Given the description of an element on the screen output the (x, y) to click on. 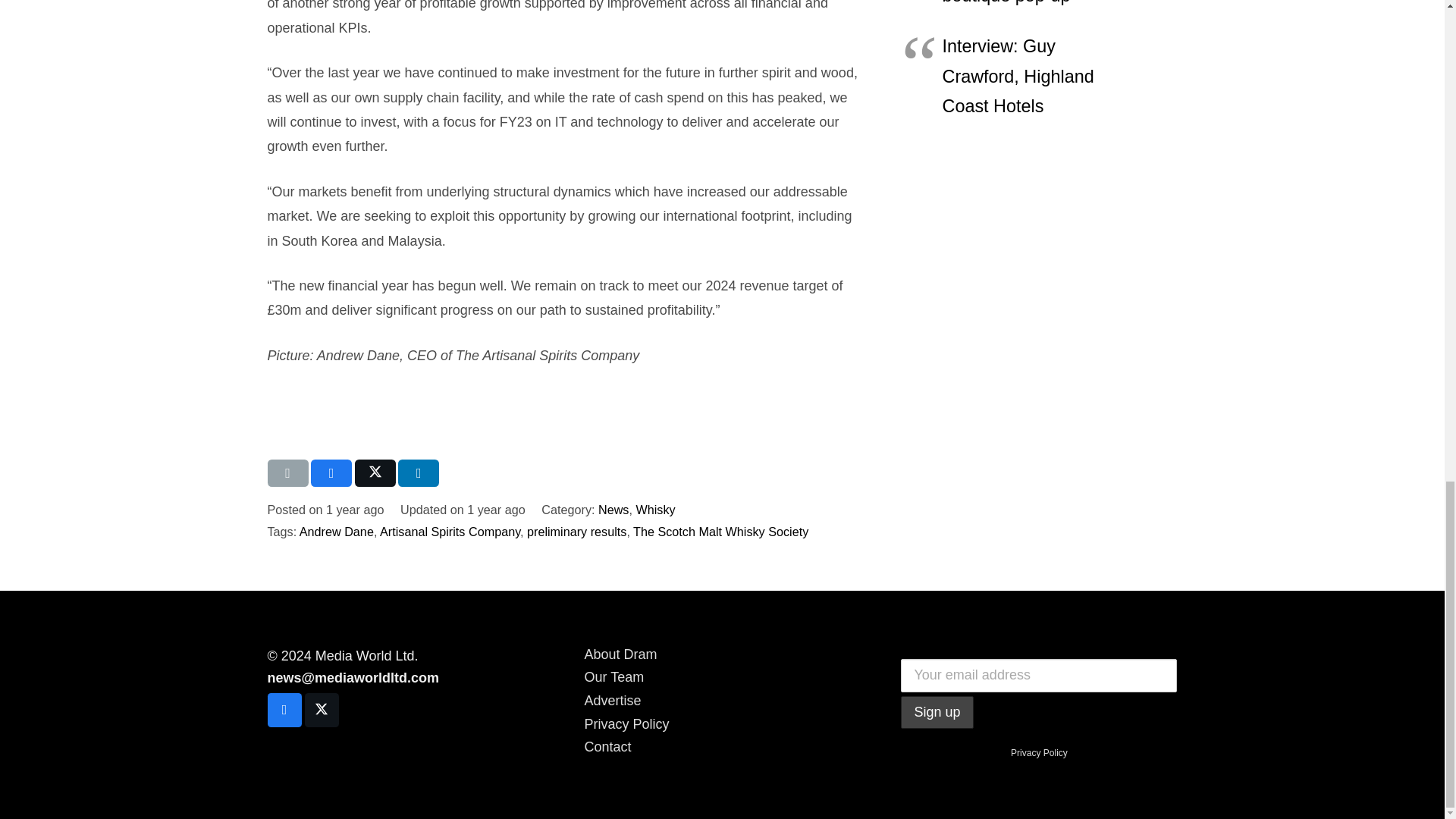
News (613, 509)
preliminary results (576, 531)
Whisky (654, 509)
The Scotch Malt Whisky Society (720, 531)
Share this (331, 472)
Andrew Dane (336, 531)
Twitter (321, 709)
Share this (418, 472)
Sign up (936, 712)
Facebook (283, 709)
Email this (286, 472)
Artisanal Spirits Company (449, 531)
Tweet this (375, 472)
